Given the description of an element on the screen output the (x, y) to click on. 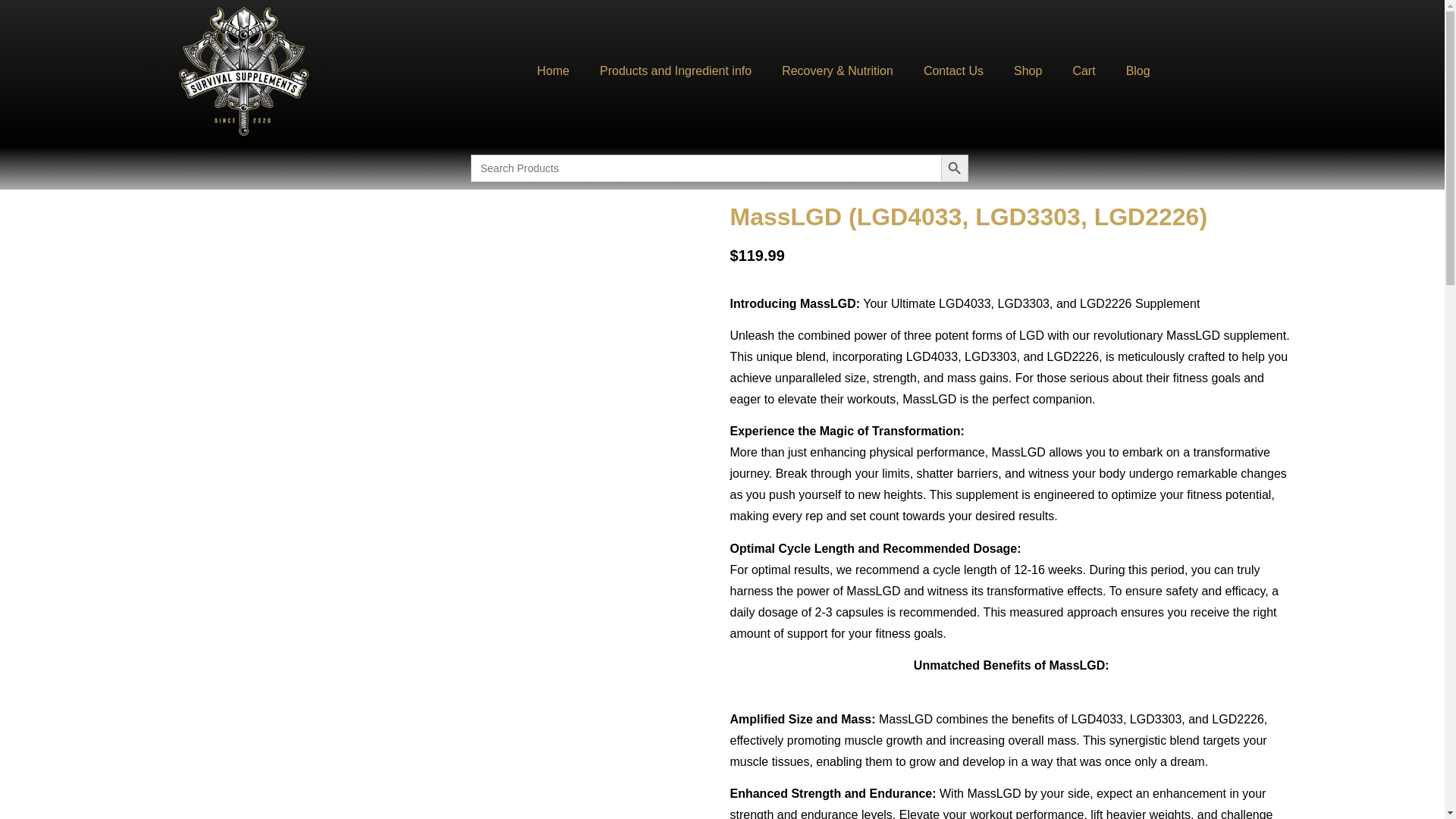
Home (553, 71)
Cart (1083, 71)
Products and Ingredient info (676, 71)
Search Button (954, 167)
Shop (1027, 71)
Contact Us (953, 71)
Blog (1138, 71)
